Given the description of an element on the screen output the (x, y) to click on. 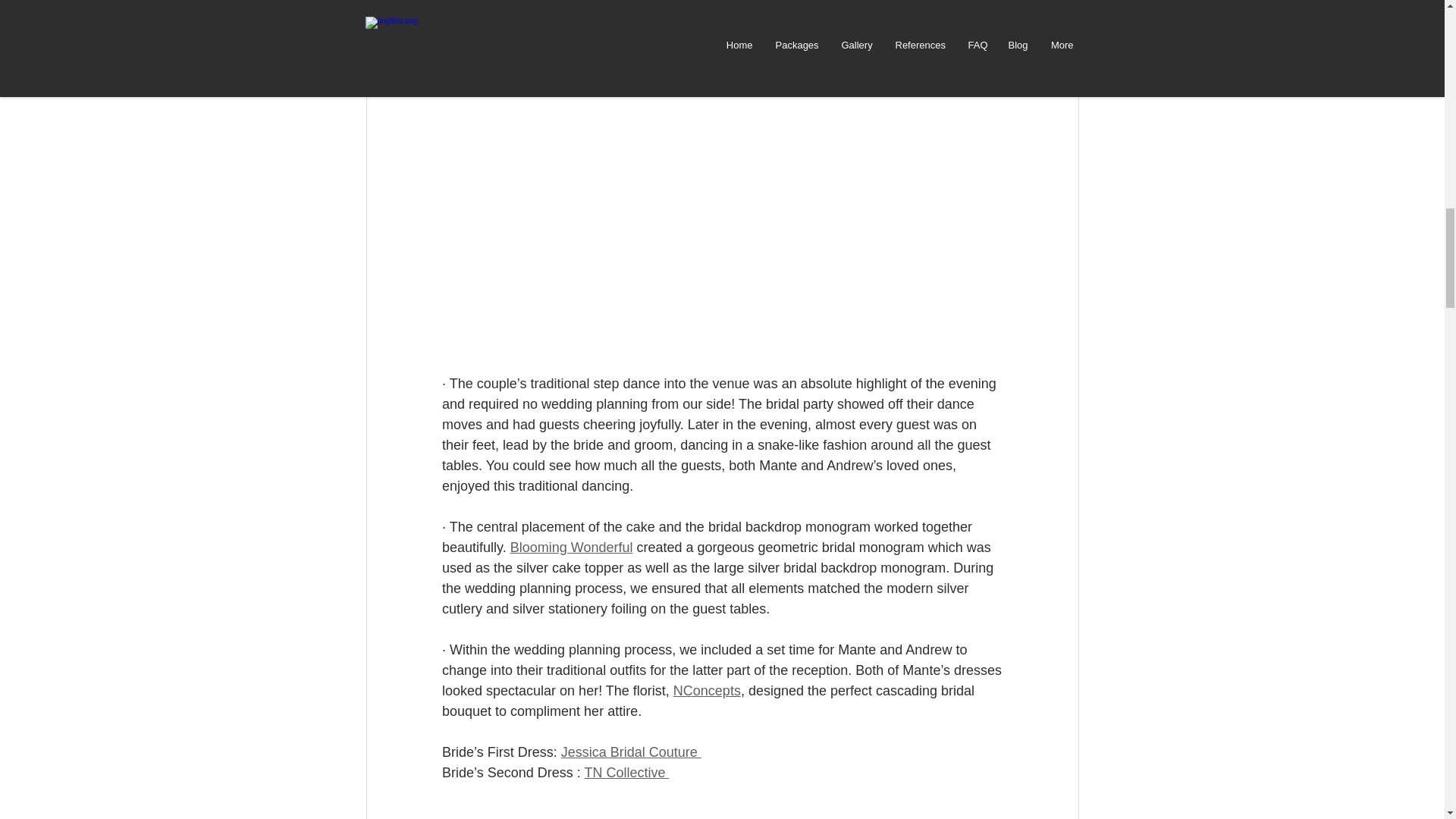
Jessica Bridal Couture  (630, 752)
Blooming Wonderful (570, 547)
NConcepts (705, 690)
TN Collective  (625, 772)
